Given the description of an element on the screen output the (x, y) to click on. 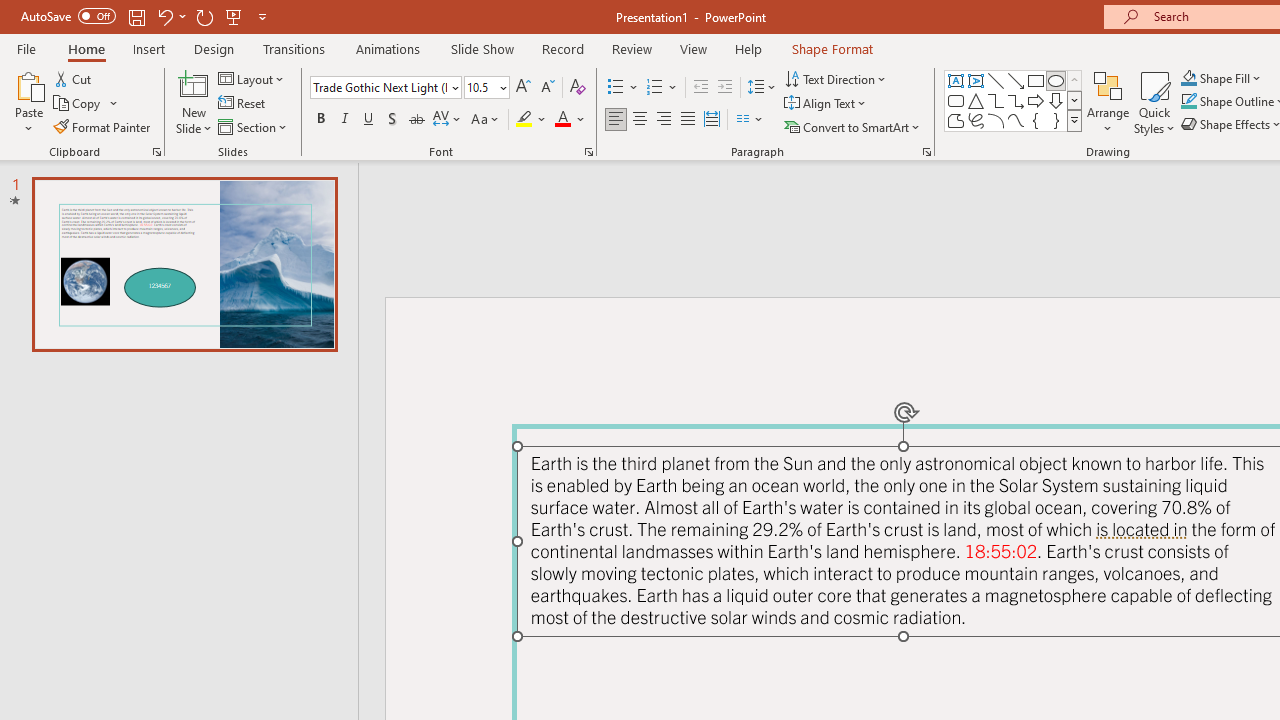
Clear Formatting (577, 87)
Font... (588, 151)
Save (136, 15)
New Slide (193, 84)
Office Clipboard... (156, 151)
Decrease Font Size (547, 87)
Design (214, 48)
Font (379, 87)
Font Color (569, 119)
AutomationID: ShapesInsertGallery (1014, 100)
Columns (750, 119)
Layout (252, 78)
Freeform: Shape (955, 120)
Home (86, 48)
Arrow: Down (1055, 100)
